Given the description of an element on the screen output the (x, y) to click on. 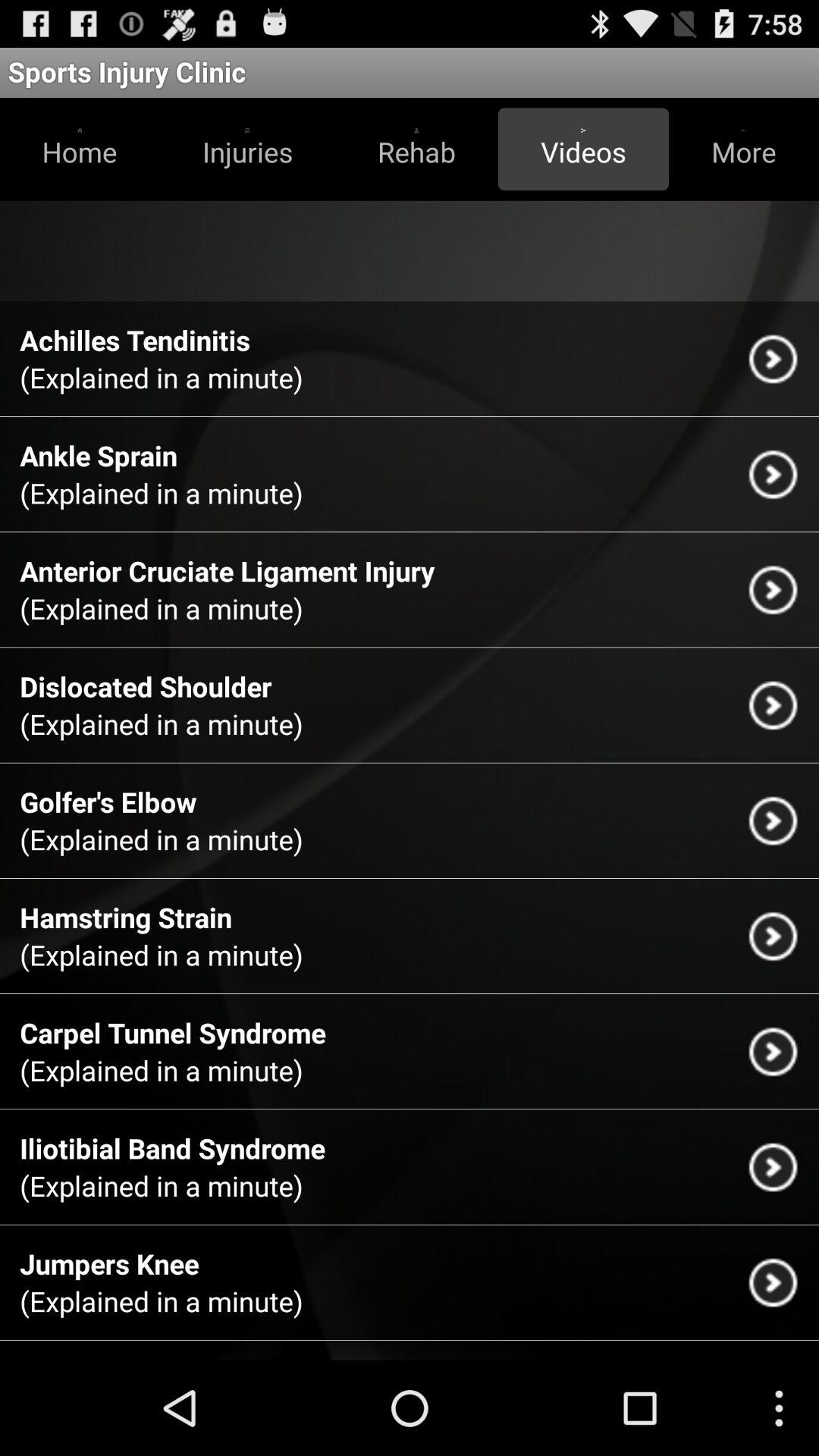
select the app to the right of explained in a item (773, 820)
